Given the description of an element on the screen output the (x, y) to click on. 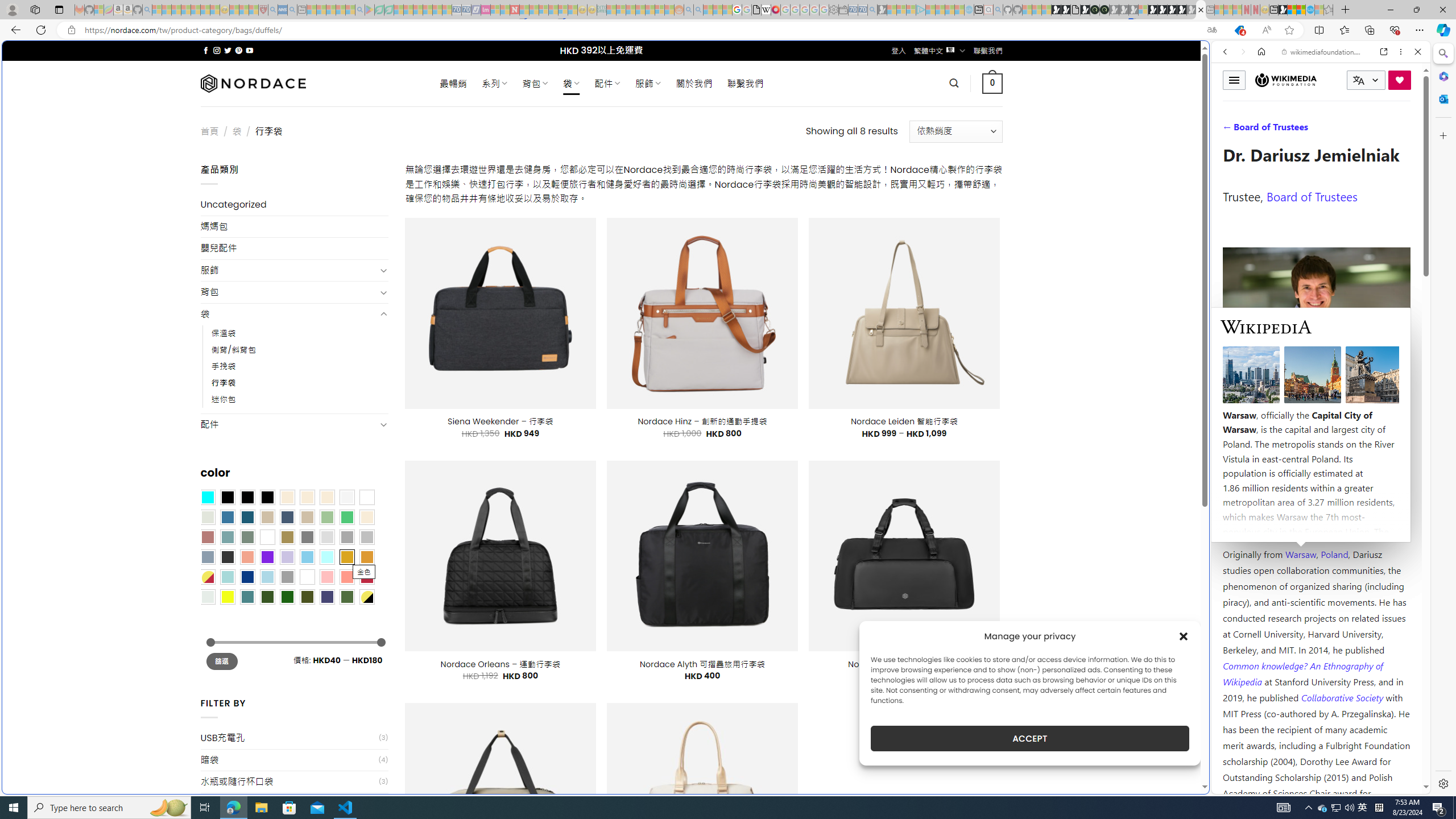
Play Zoo Boom in your browser | Games from Microsoft Start (1065, 9)
